Given the description of an element on the screen output the (x, y) to click on. 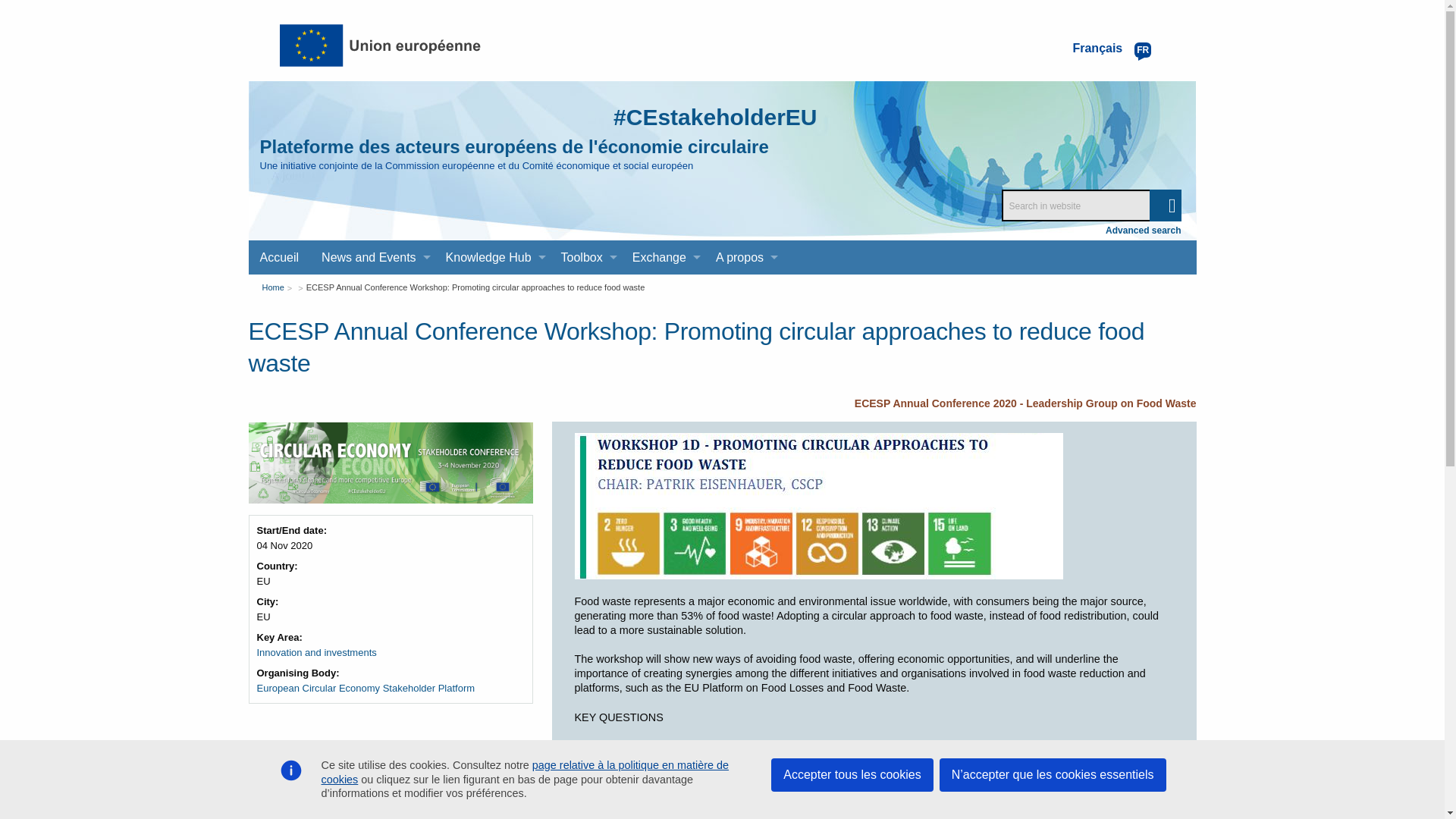
Search in website (1090, 205)
News and Events (371, 257)
Toolbox (585, 257)
News and Events (371, 257)
Accepter tous les cookies (852, 774)
Search (1165, 205)
Accueil (279, 257)
Exchange (662, 257)
Knowledge Hub (491, 257)
Knowledge Hub (491, 257)
Search (1165, 205)
Toolbox (585, 257)
A propos (742, 257)
